Given the description of an element on the screen output the (x, y) to click on. 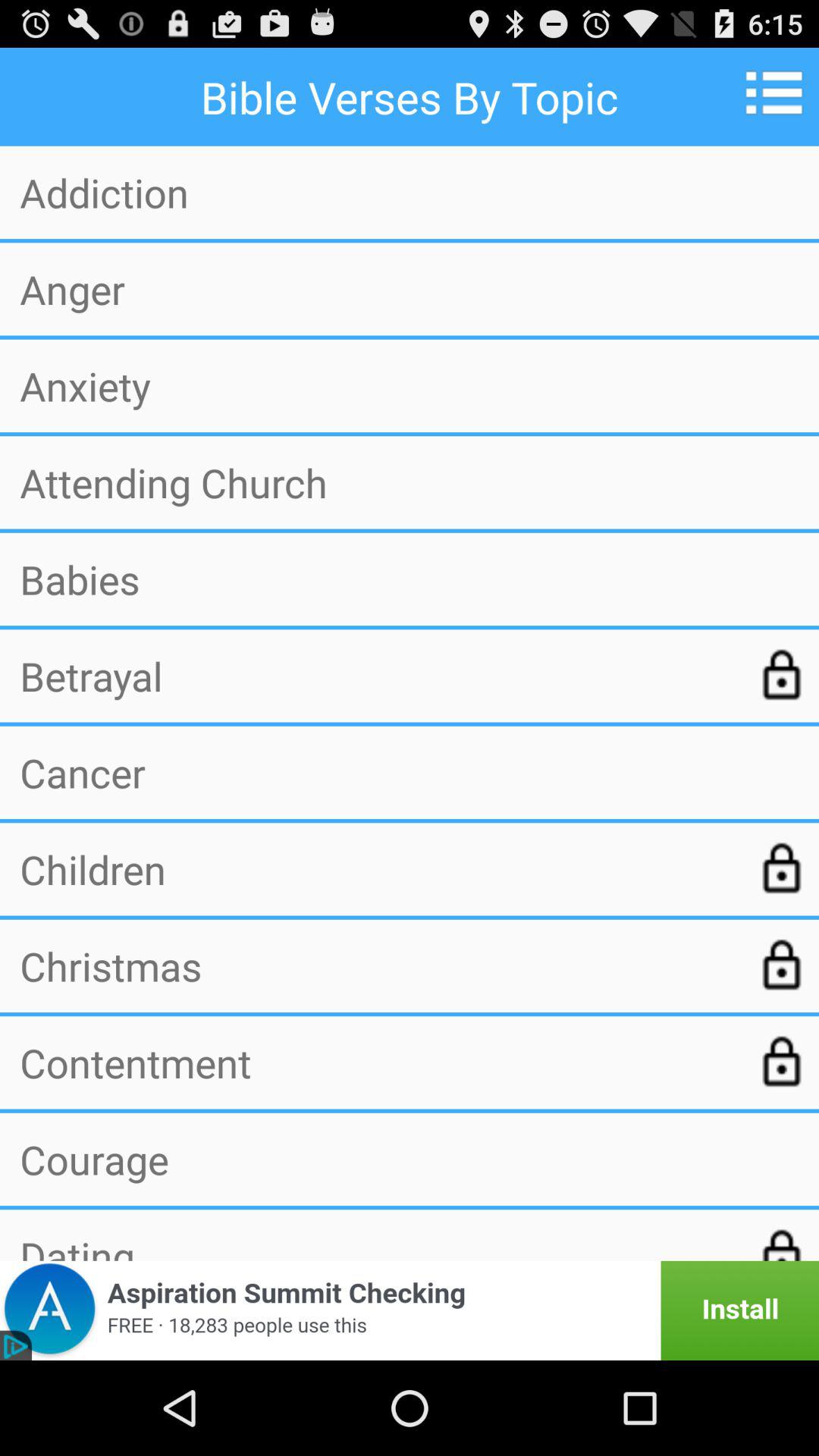
turn on the item below the children item (376, 965)
